Given the description of an element on the screen output the (x, y) to click on. 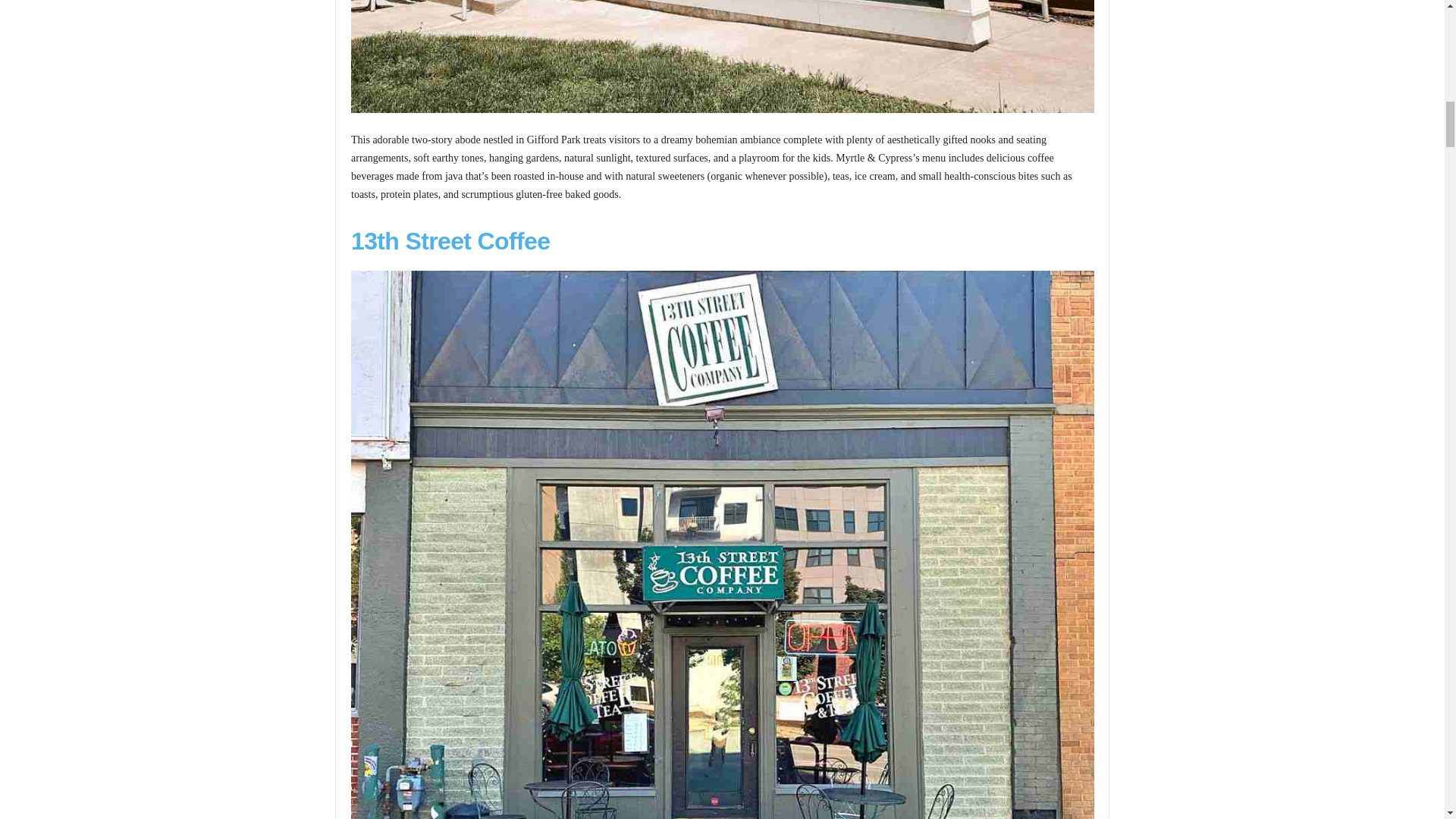
13th Street Coffee (450, 240)
